Given the description of an element on the screen output the (x, y) to click on. 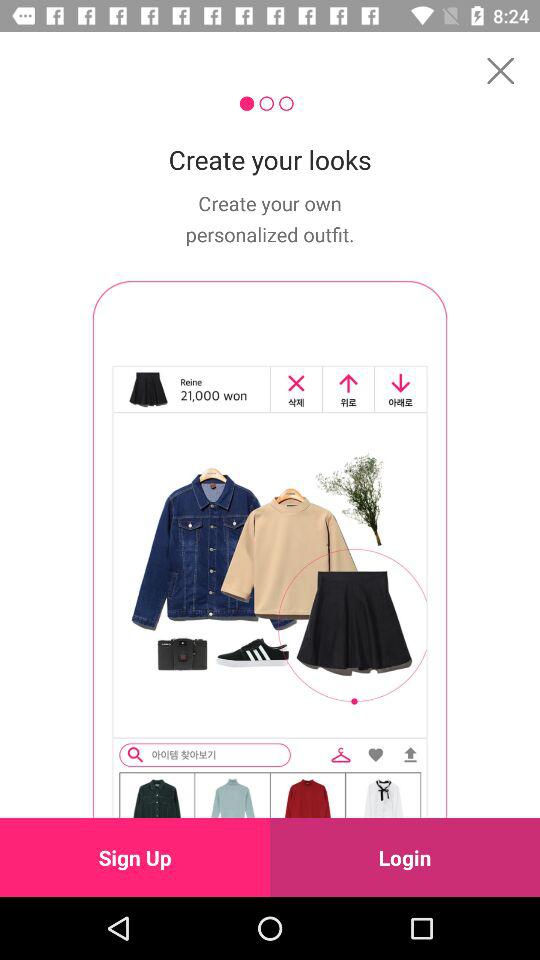
tap the login at the bottom right corner (405, 857)
